Given the description of an element on the screen output the (x, y) to click on. 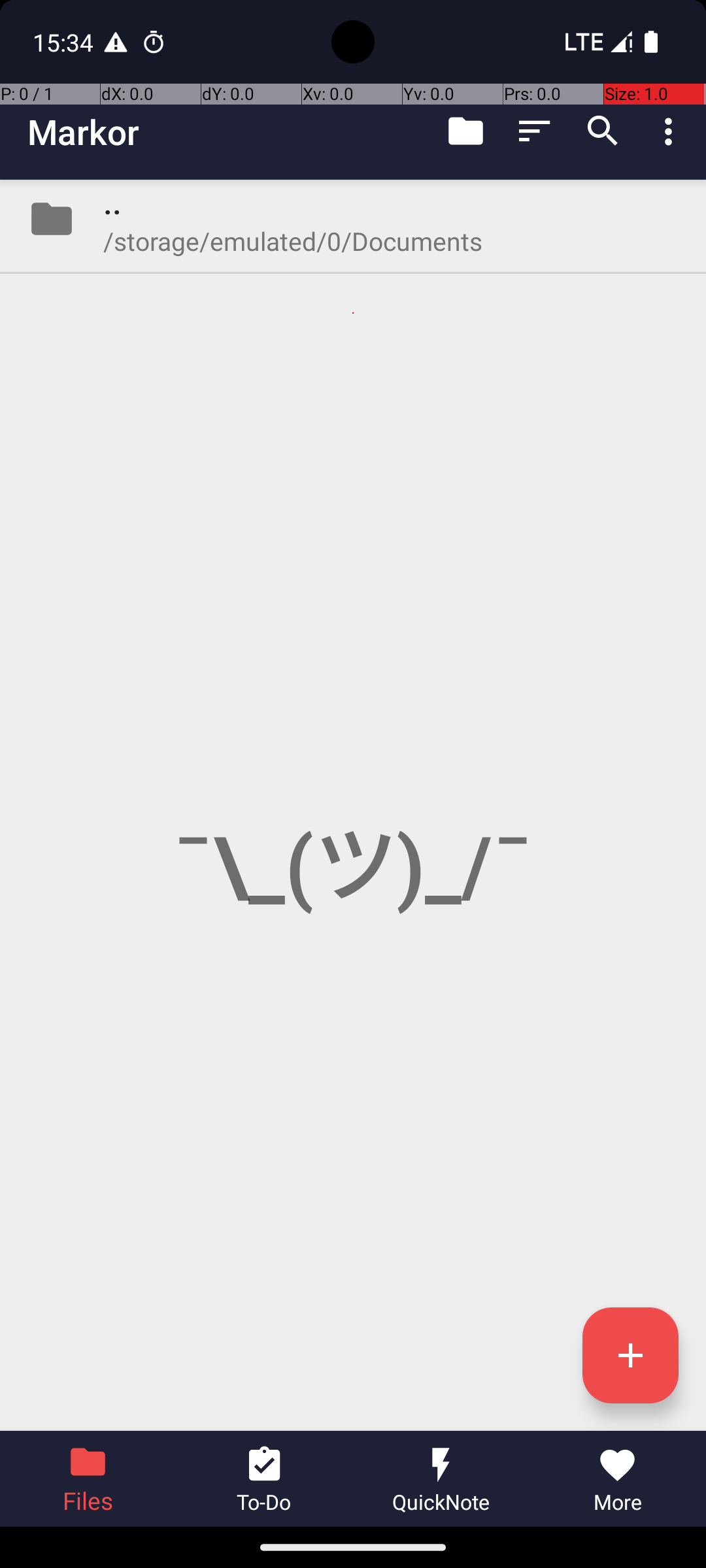
Folder .. /storage/emulated/0 Element type: android.widget.LinearLayout (353, 218)
